Given the description of an element on the screen output the (x, y) to click on. 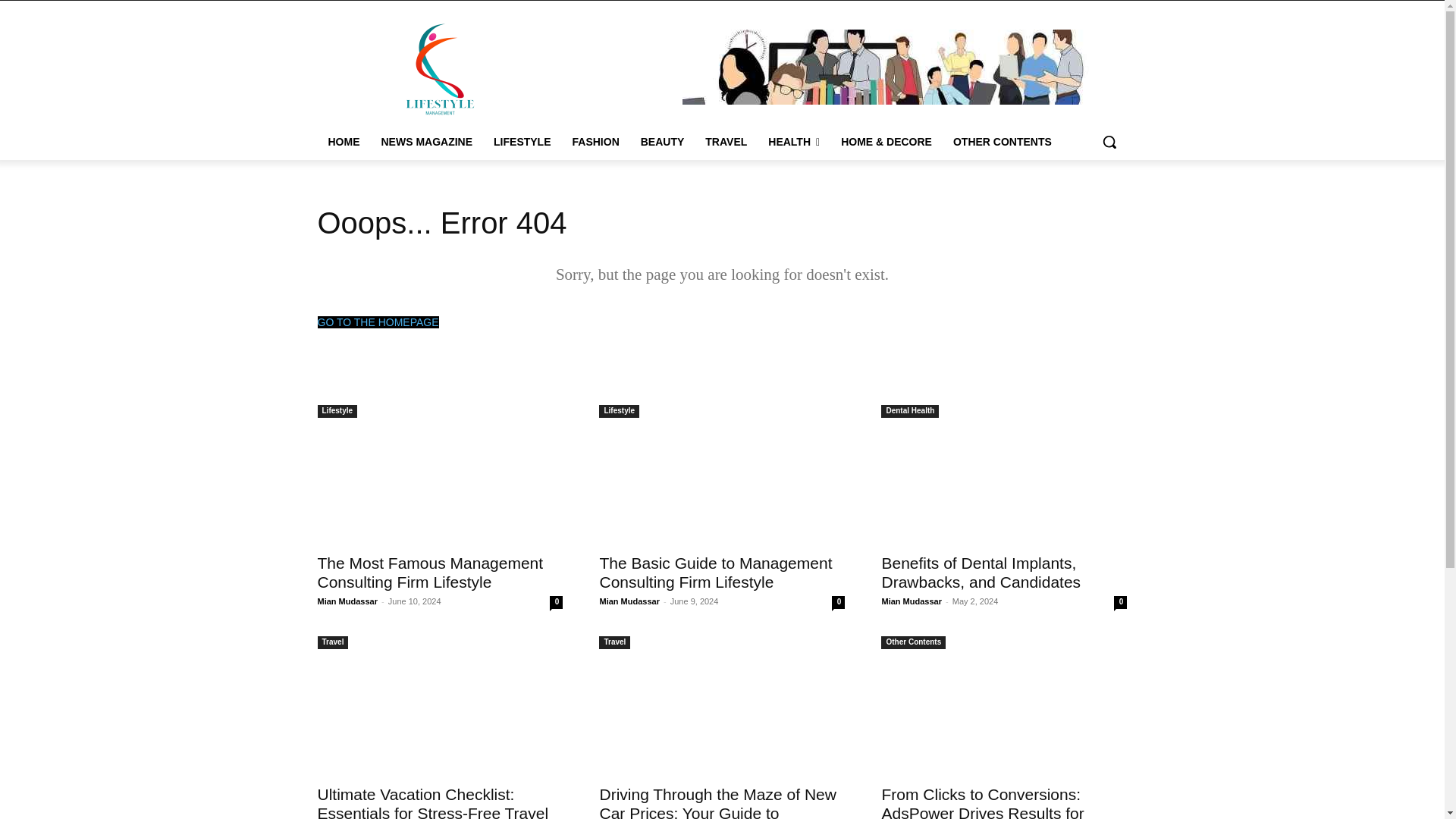
TRAVEL (725, 141)
The Most Famous Management Consulting Firm Lifestyle (439, 481)
Lifestyle (336, 410)
Mian Mudassar (347, 601)
Go to the homepage (377, 322)
Benefits of Dental Implants, Drawbacks, and Candidates (980, 572)
